Given the description of an element on the screen output the (x, y) to click on. 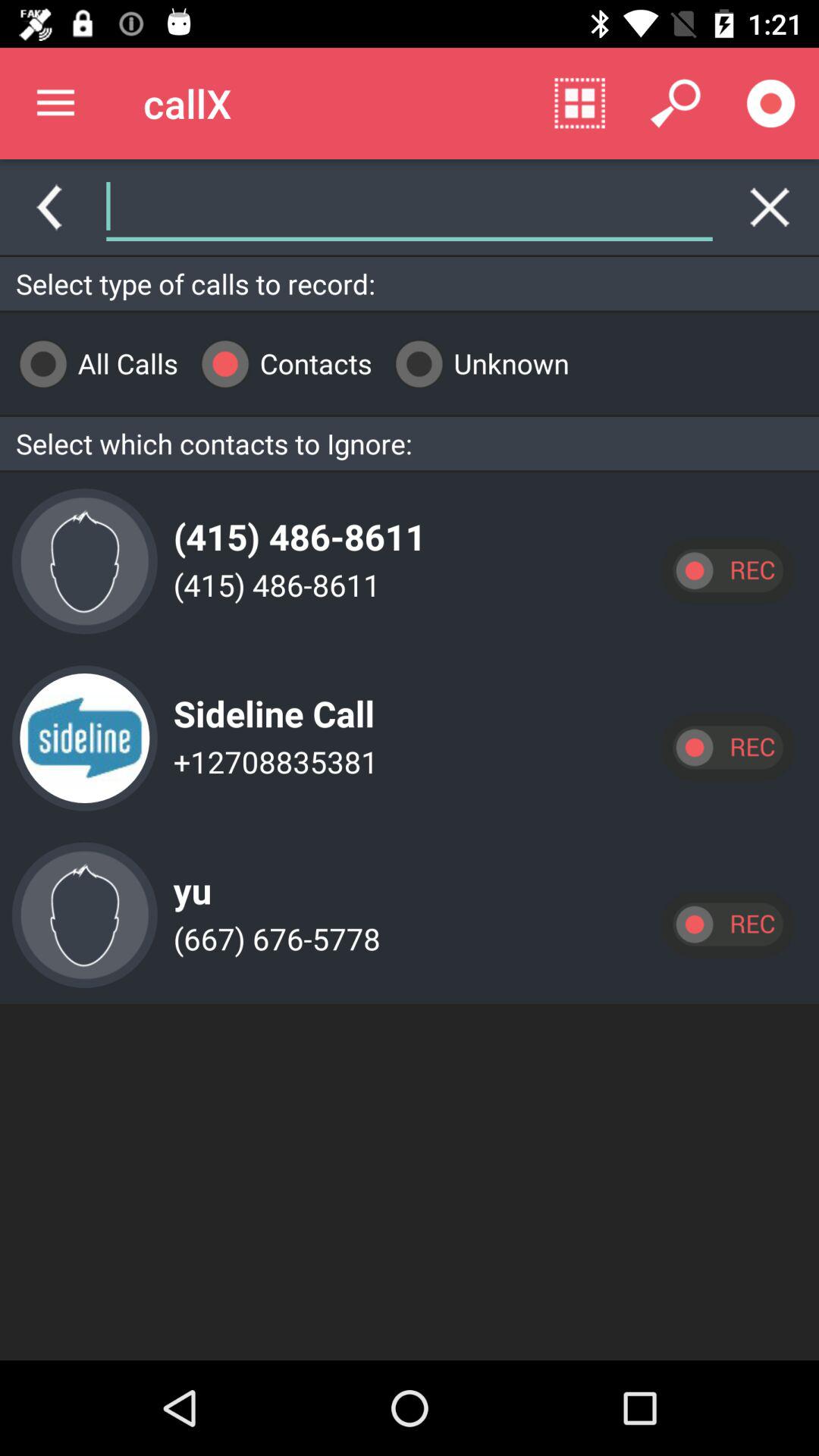
record contact (727, 924)
